Given the description of an element on the screen output the (x, y) to click on. 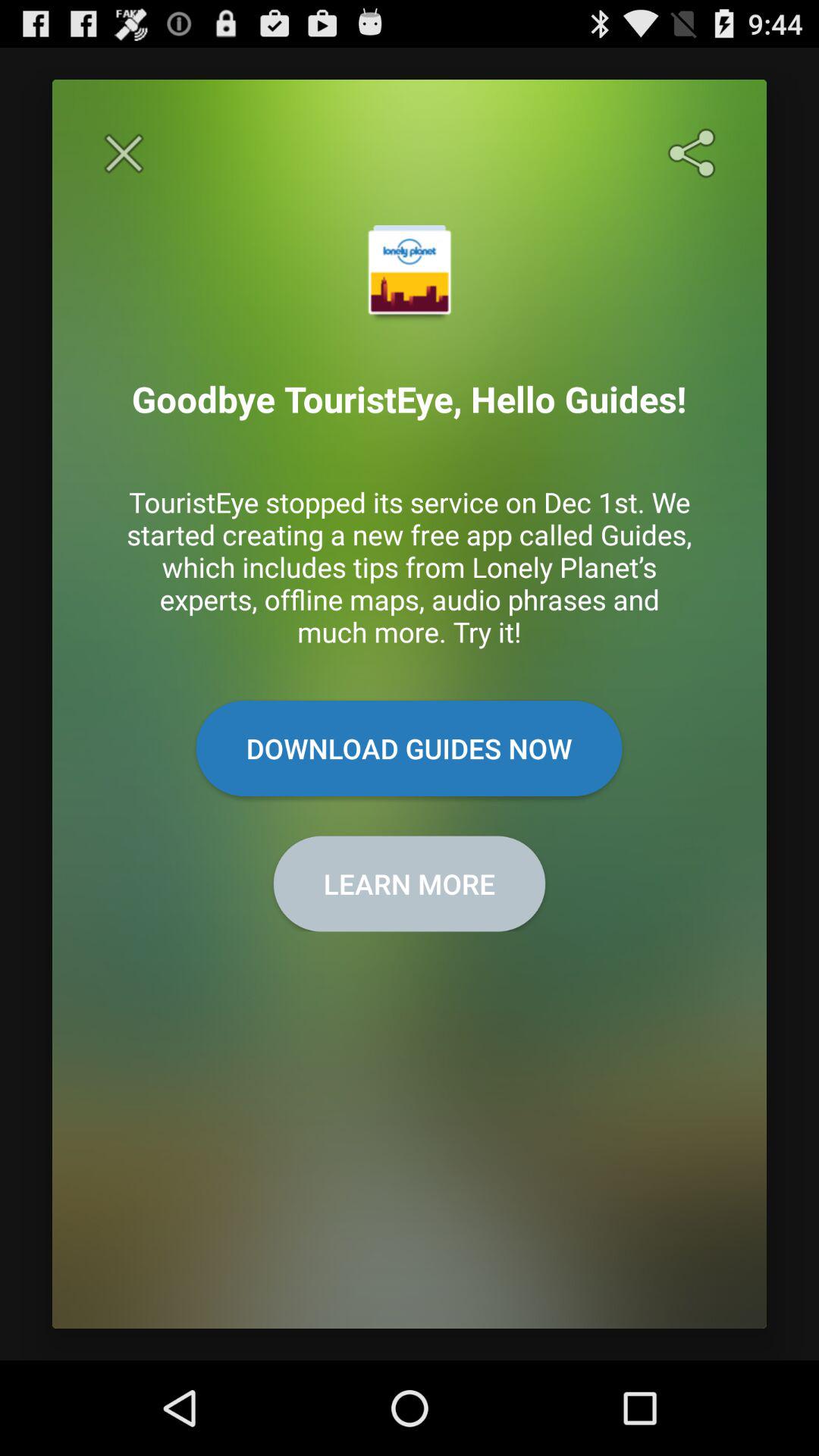
close option for the window (123, 153)
